Given the description of an element on the screen output the (x, y) to click on. 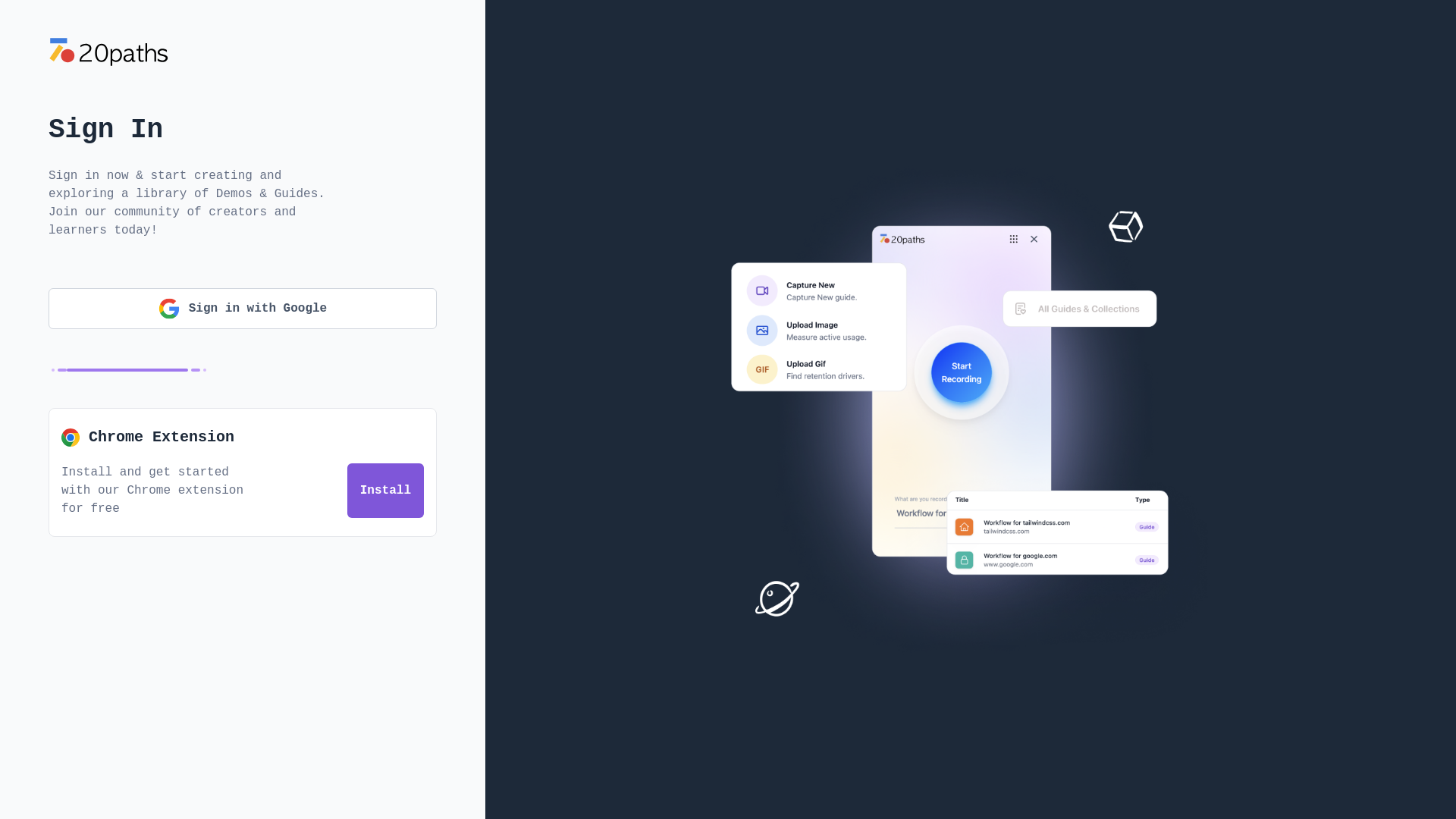
Sign in with Google Element type: text (242, 308)
Install Element type: text (385, 490)
Install Element type: text (385, 490)
